Given the description of an element on the screen output the (x, y) to click on. 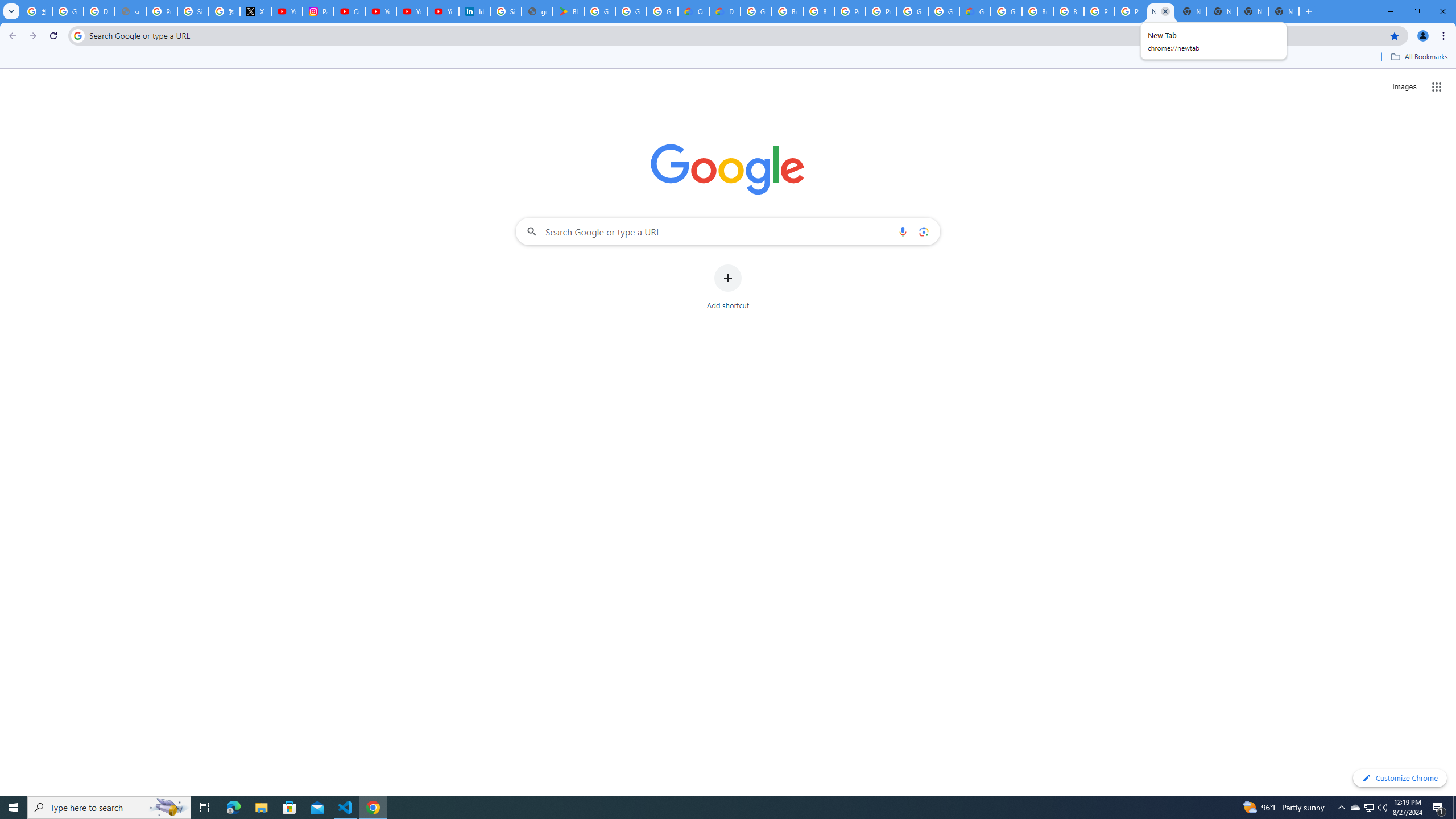
Google Cloud Platform (912, 11)
Google Cloud Platform (1005, 11)
YouTube Culture & Trends - YouTube Top 10, 2021 (443, 11)
Privacy Help Center - Policies Help (161, 11)
Customer Care | Google Cloud (693, 11)
